Given the description of an element on the screen output the (x, y) to click on. 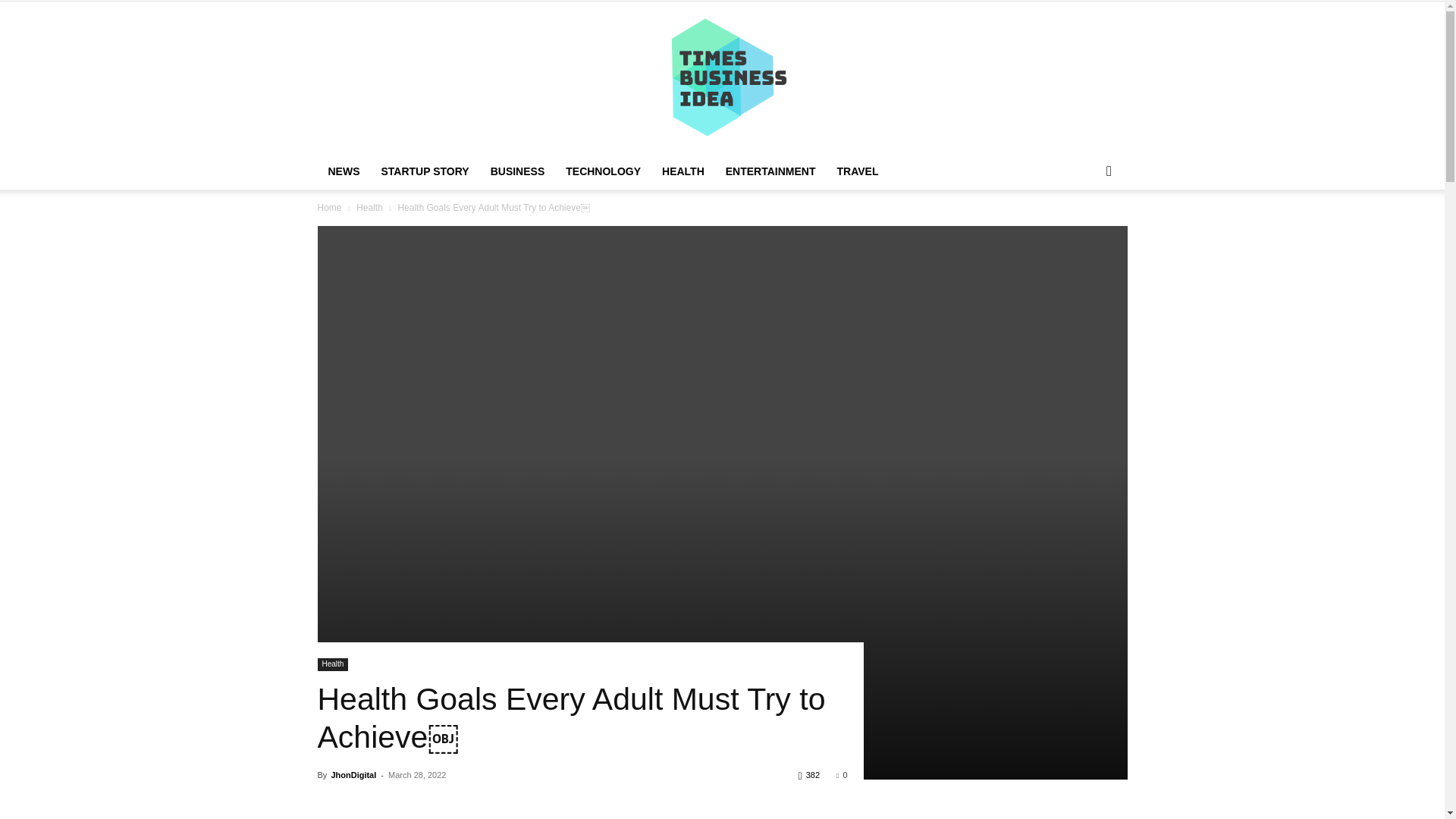
TRAVEL (858, 171)
TECHNOLOGY (602, 171)
BUSINESS (518, 171)
Times Business Idea (721, 77)
NEWS (343, 171)
HEALTH (682, 171)
JhonDigital (352, 774)
Search (1085, 232)
STARTUP STORY (424, 171)
0 (841, 774)
